Given the description of an element on the screen output the (x, y) to click on. 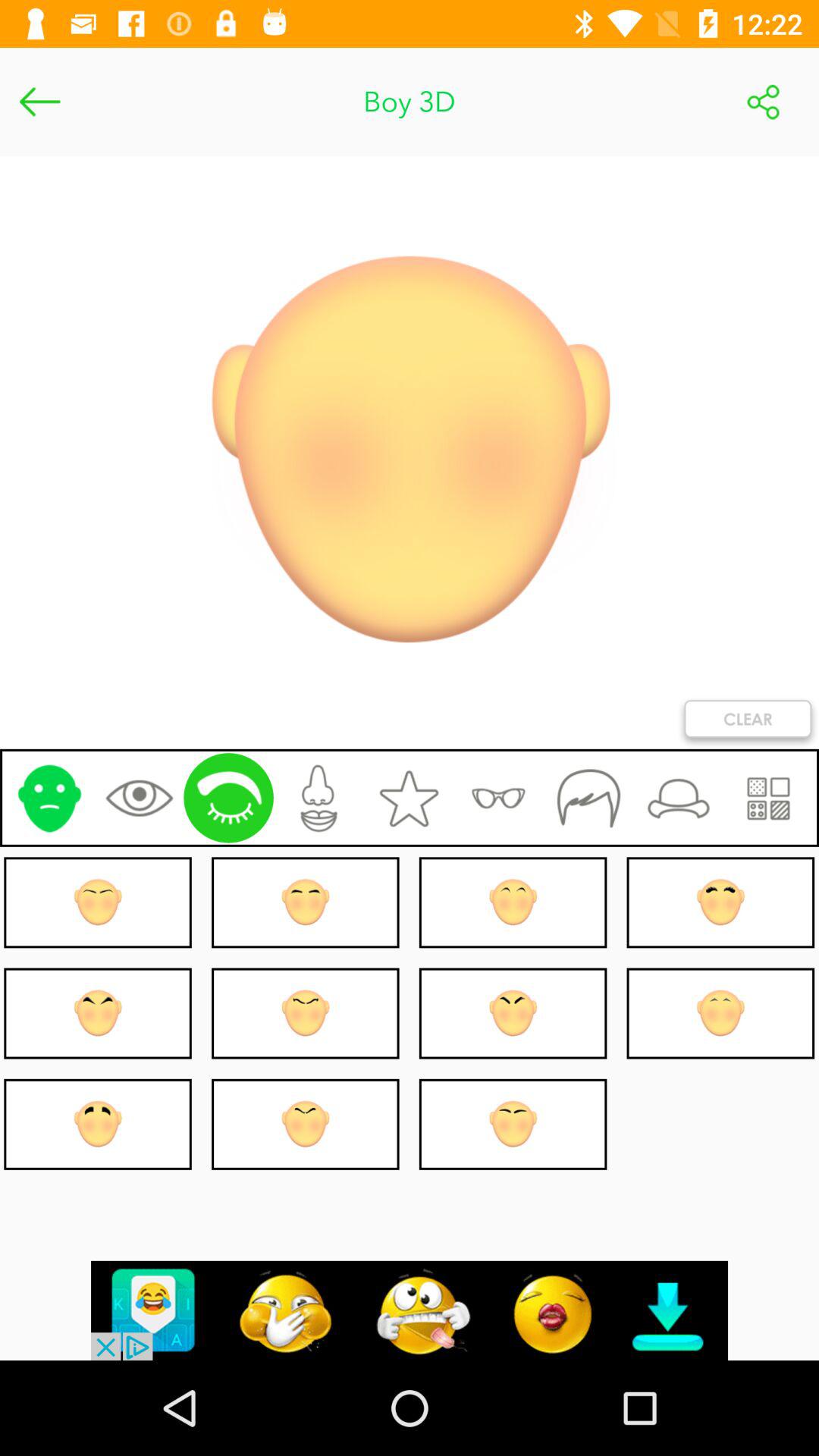
clear choices (747, 722)
